Given the description of an element on the screen output the (x, y) to click on. 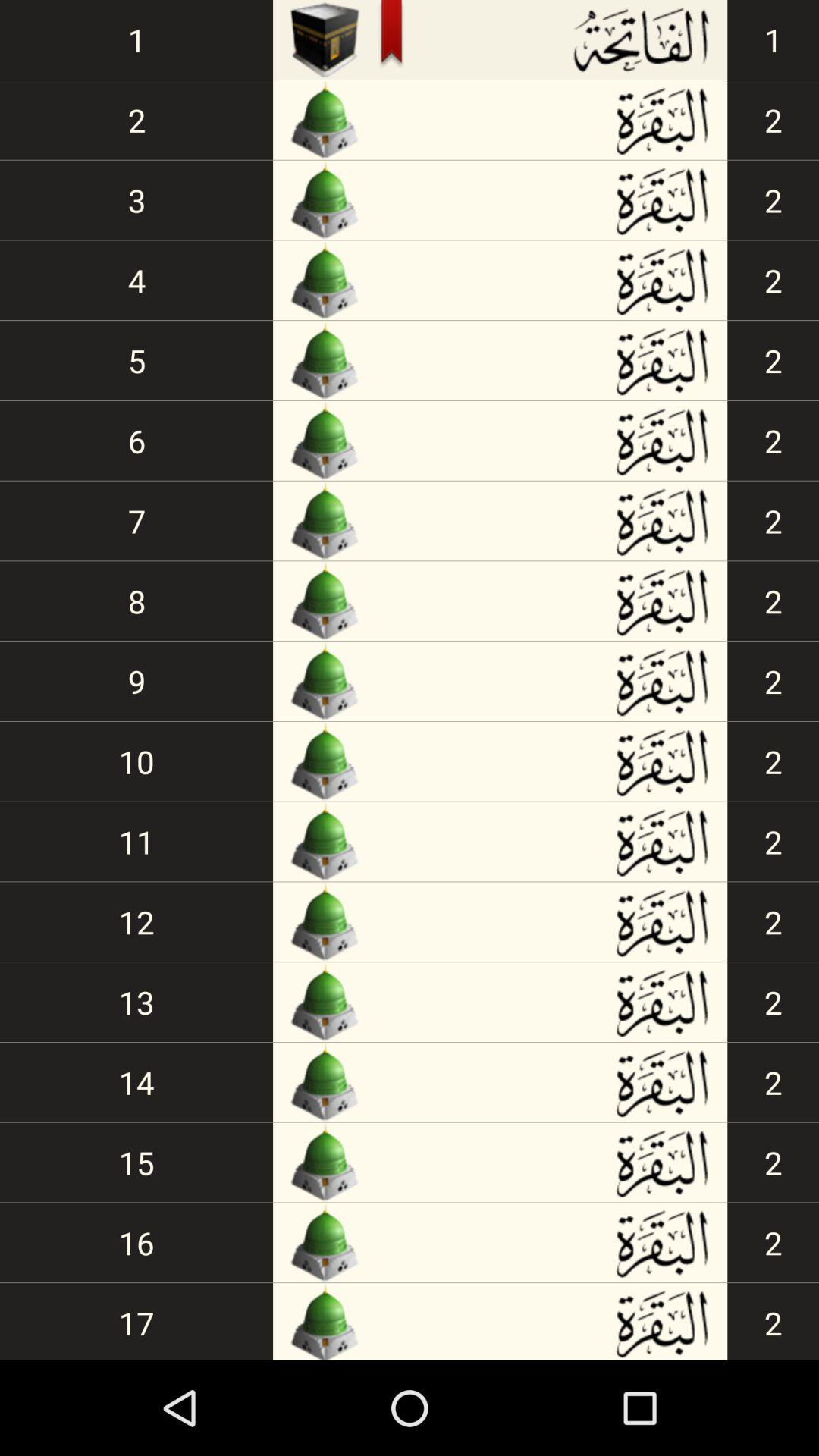
select the app above 12 icon (136, 841)
